Given the description of an element on the screen output the (x, y) to click on. 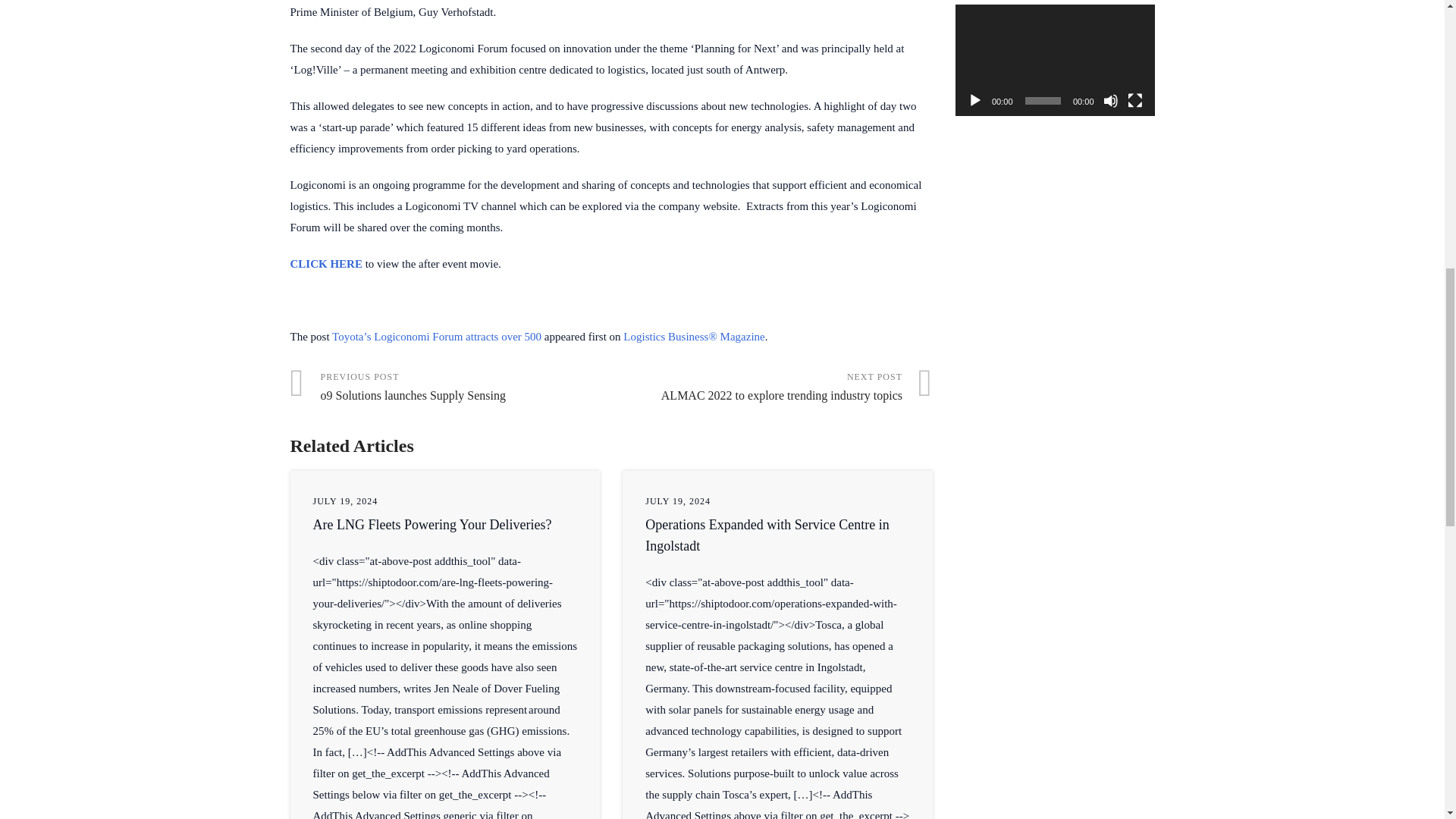
Operations Expanded with Service Centre in Ingolstadt (766, 534)
Operations Expanded with Service Centre in Ingolstadt (766, 534)
Fullscreen (1133, 100)
CLICK HERE (325, 263)
Mute (1110, 100)
Play (975, 100)
o9 Solutions launches Supply Sensing (450, 387)
ALMAC 2022 to explore trending industry topics (772, 387)
Are LNG Fleets Powering Your Deliveries? (432, 524)
Are LNG Fleets Powering Your Deliveries? (432, 524)
